Given the description of an element on the screen output the (x, y) to click on. 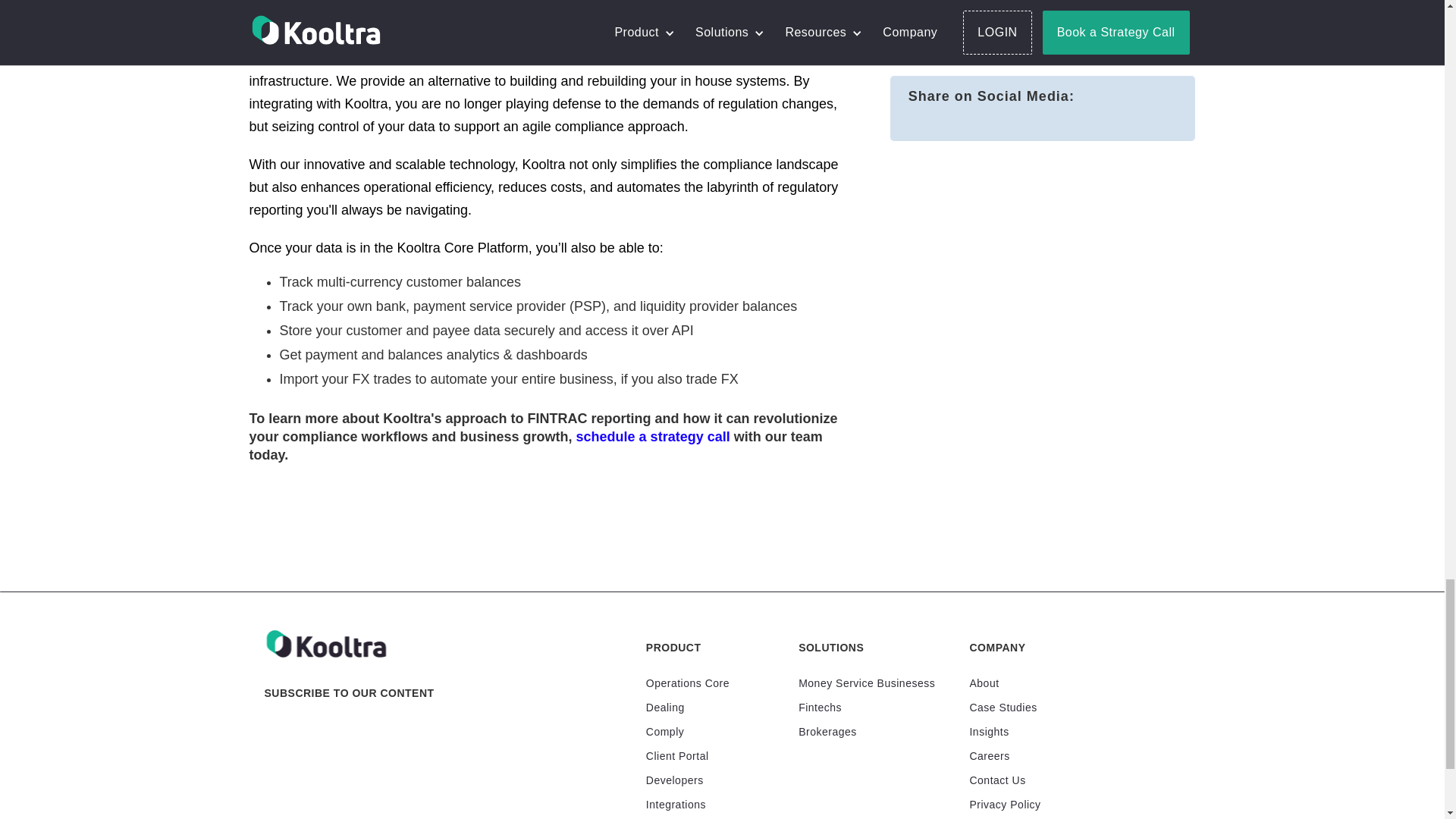
Case Studies (1002, 707)
Client Portal (677, 755)
Privacy Policy (1005, 804)
Dealing (665, 707)
Integrations (676, 804)
About (983, 683)
Fintechs (819, 707)
Brokerages (827, 731)
schedule a strategy call (653, 436)
Comply (665, 731)
